Given the description of an element on the screen output the (x, y) to click on. 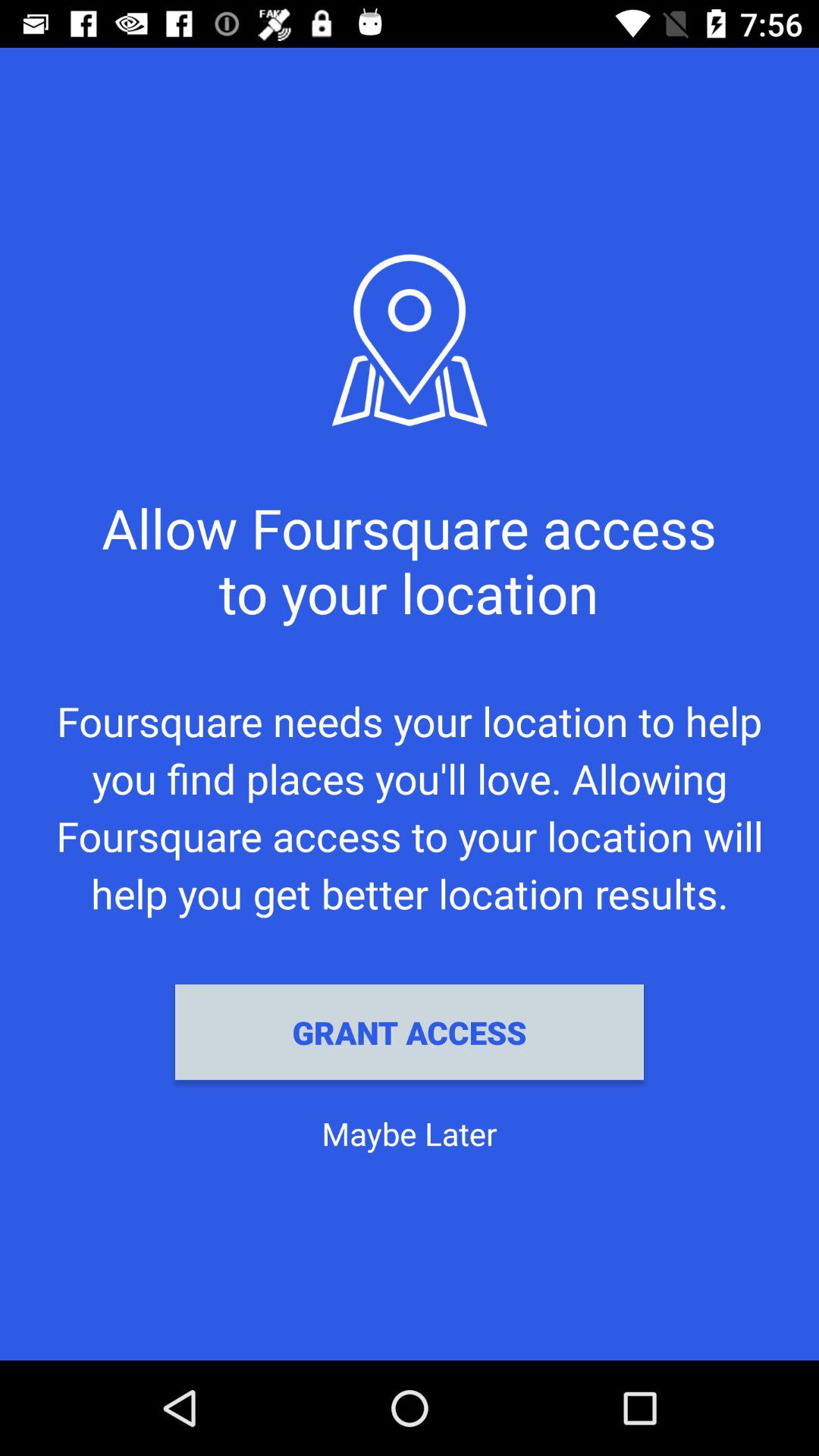
choose the grant access item (409, 1032)
